Given the description of an element on the screen output the (x, y) to click on. 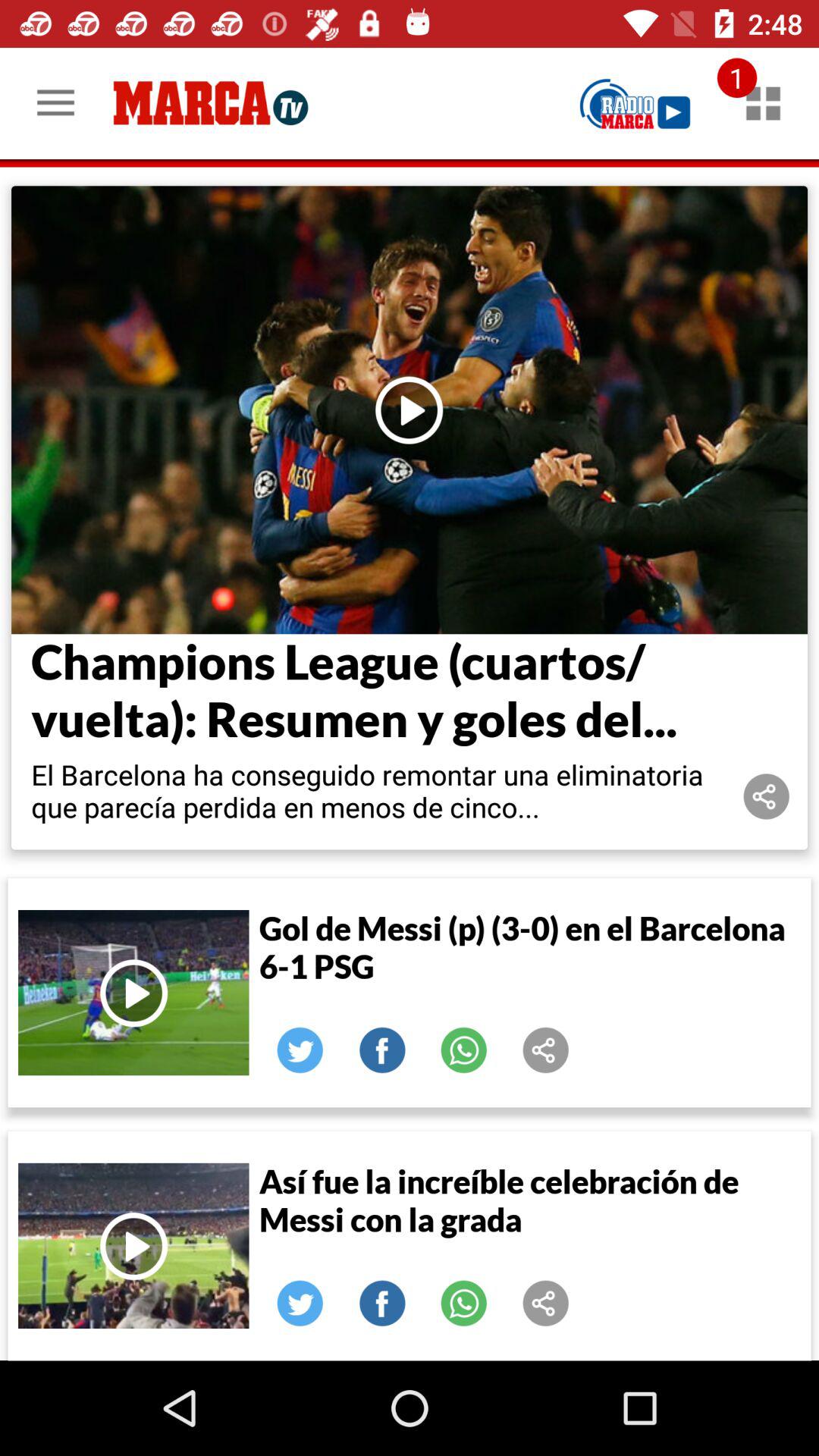
share on twitter (300, 1303)
